Given the description of an element on the screen output the (x, y) to click on. 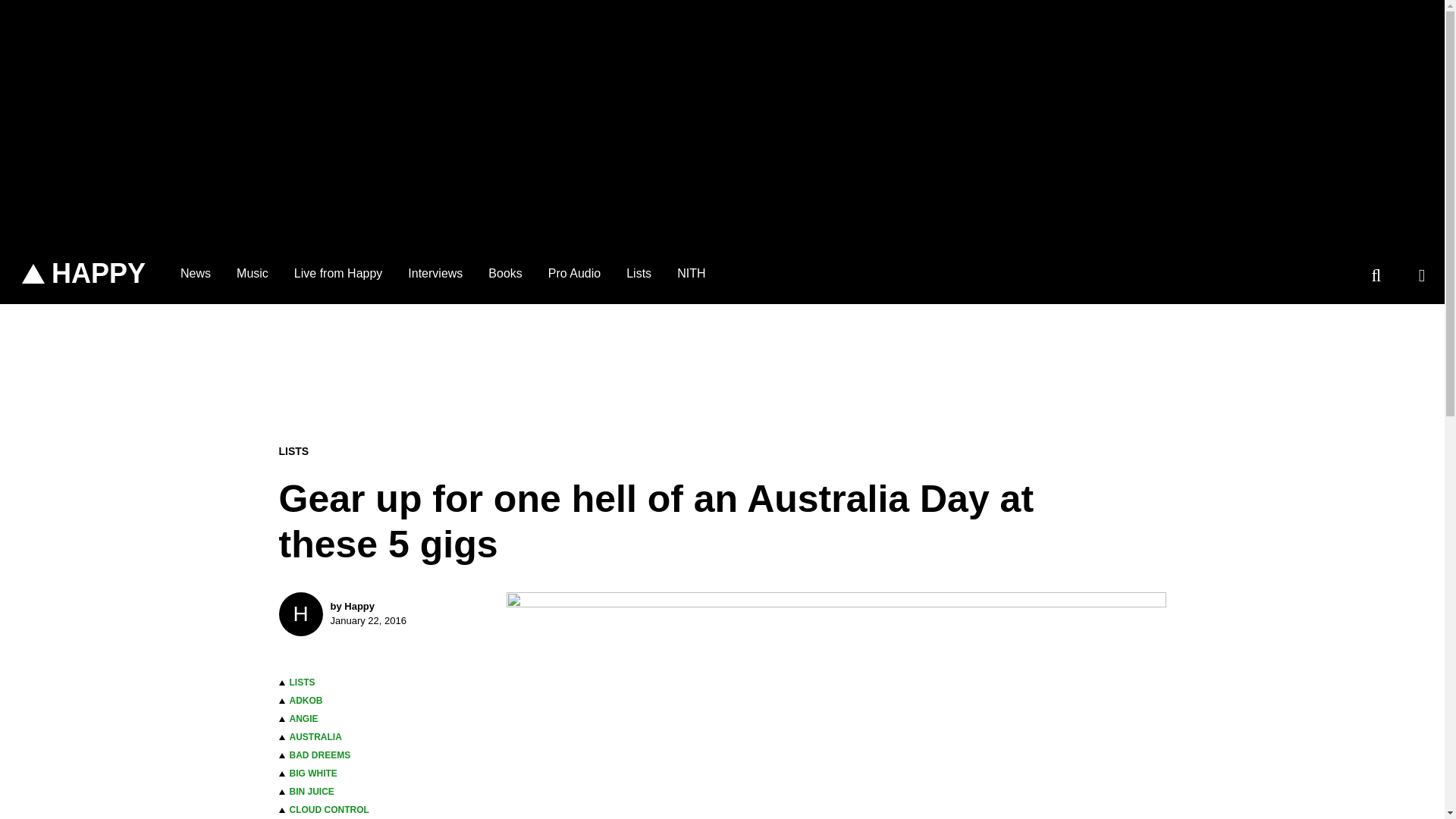
AUSTRALIA (315, 737)
Books (505, 273)
Interviews (435, 273)
ADKOB (306, 700)
News (195, 273)
Music (252, 273)
ANGIE (303, 718)
Pro Audio (381, 614)
Live from Happy (573, 273)
